Given the description of an element on the screen output the (x, y) to click on. 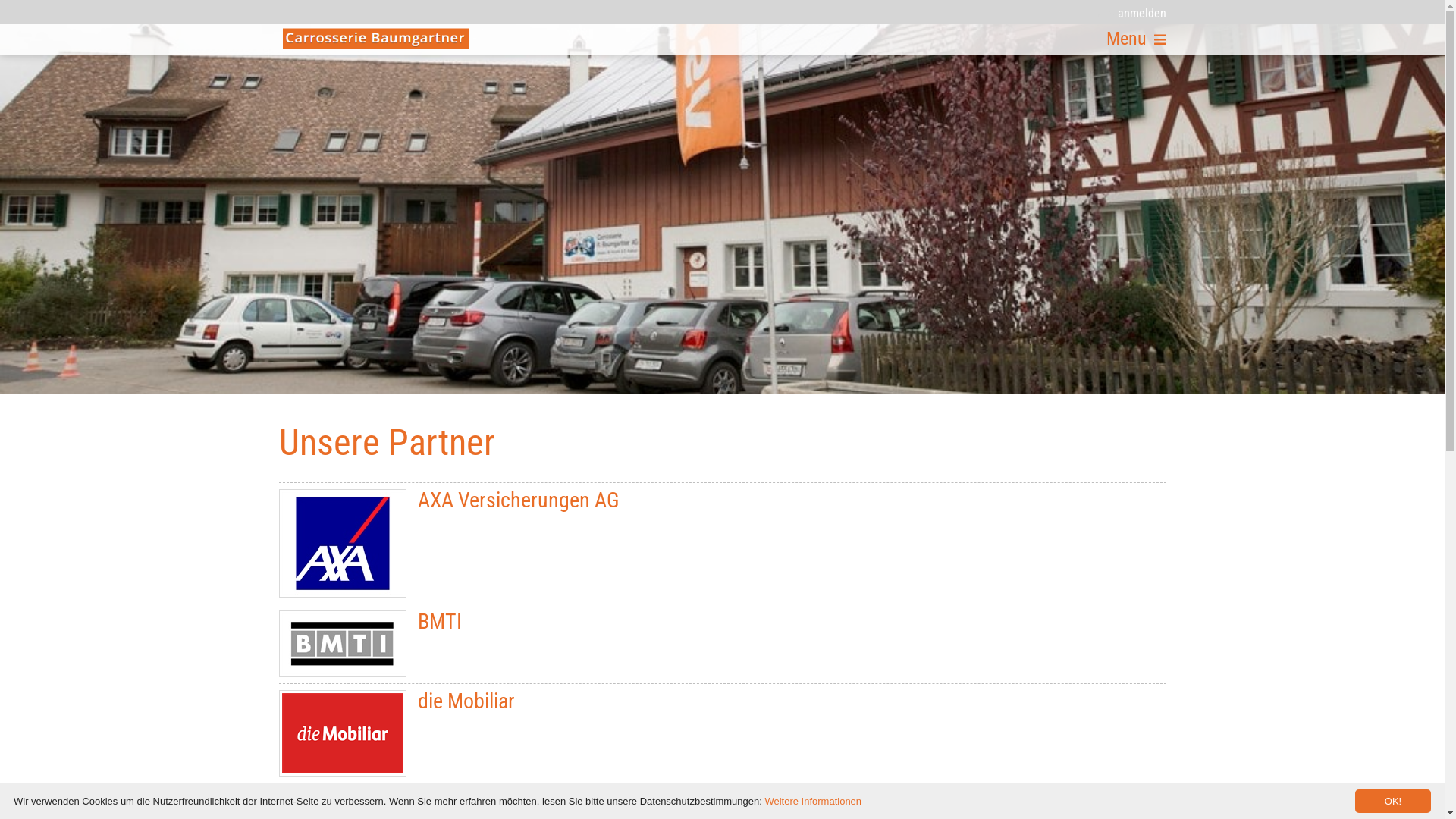
AXA Versicherungen AG Element type: text (722, 543)
Carrosserie Baumgartner AG Element type: hover (374, 38)
Garage Breitehof AG Element type: text (341, 801)
BMTI Element type: text (722, 643)
AXA Versicherungen AG Element type: text (341, 542)
Weitere Informationen Element type: text (812, 800)
die Mobiliar Element type: text (341, 732)
BMTI Element type: text (341, 643)
die Mobiliar Element type: text (722, 733)
anmelden Element type: text (1132, 12)
